Given the description of an element on the screen output the (x, y) to click on. 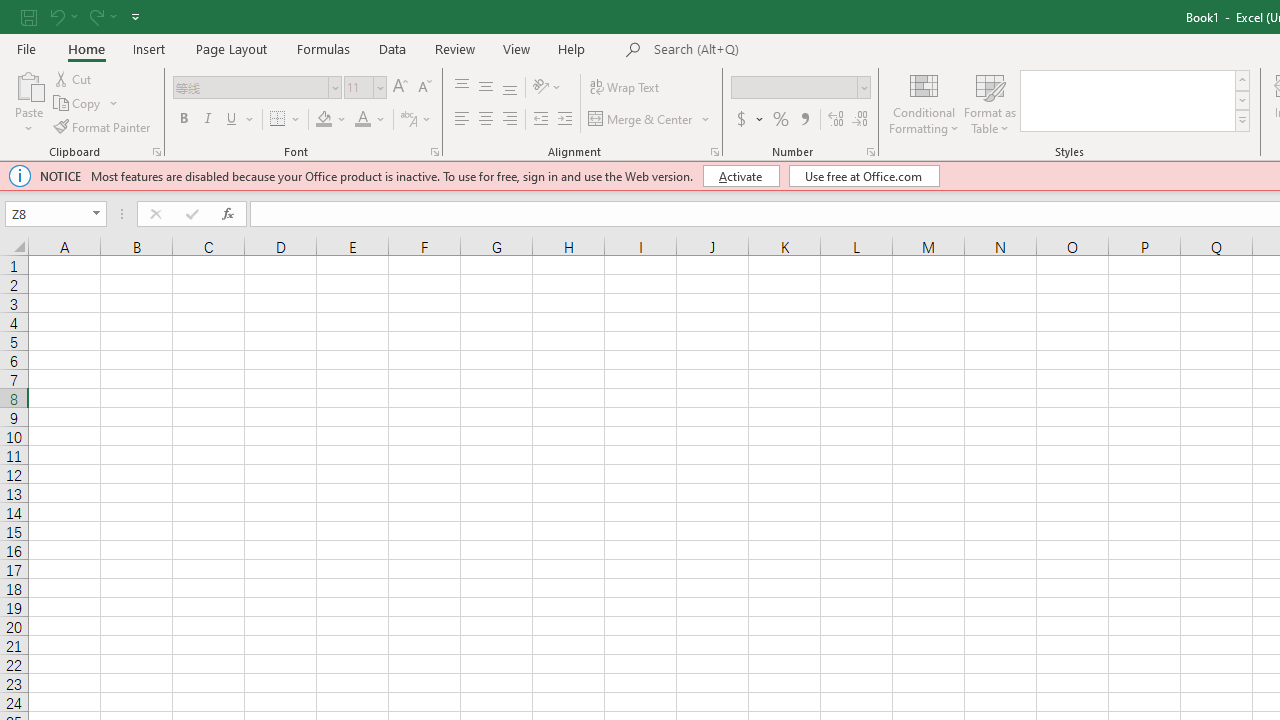
Use free at Office.com (863, 175)
Decrease Decimal (859, 119)
Italic (207, 119)
Format Cell Alignment (714, 151)
Font Color (370, 119)
Conditional Formatting (924, 102)
Copy (78, 103)
Font Size (358, 87)
Format Painter (103, 126)
Font Color (362, 119)
